Given the description of an element on the screen output the (x, y) to click on. 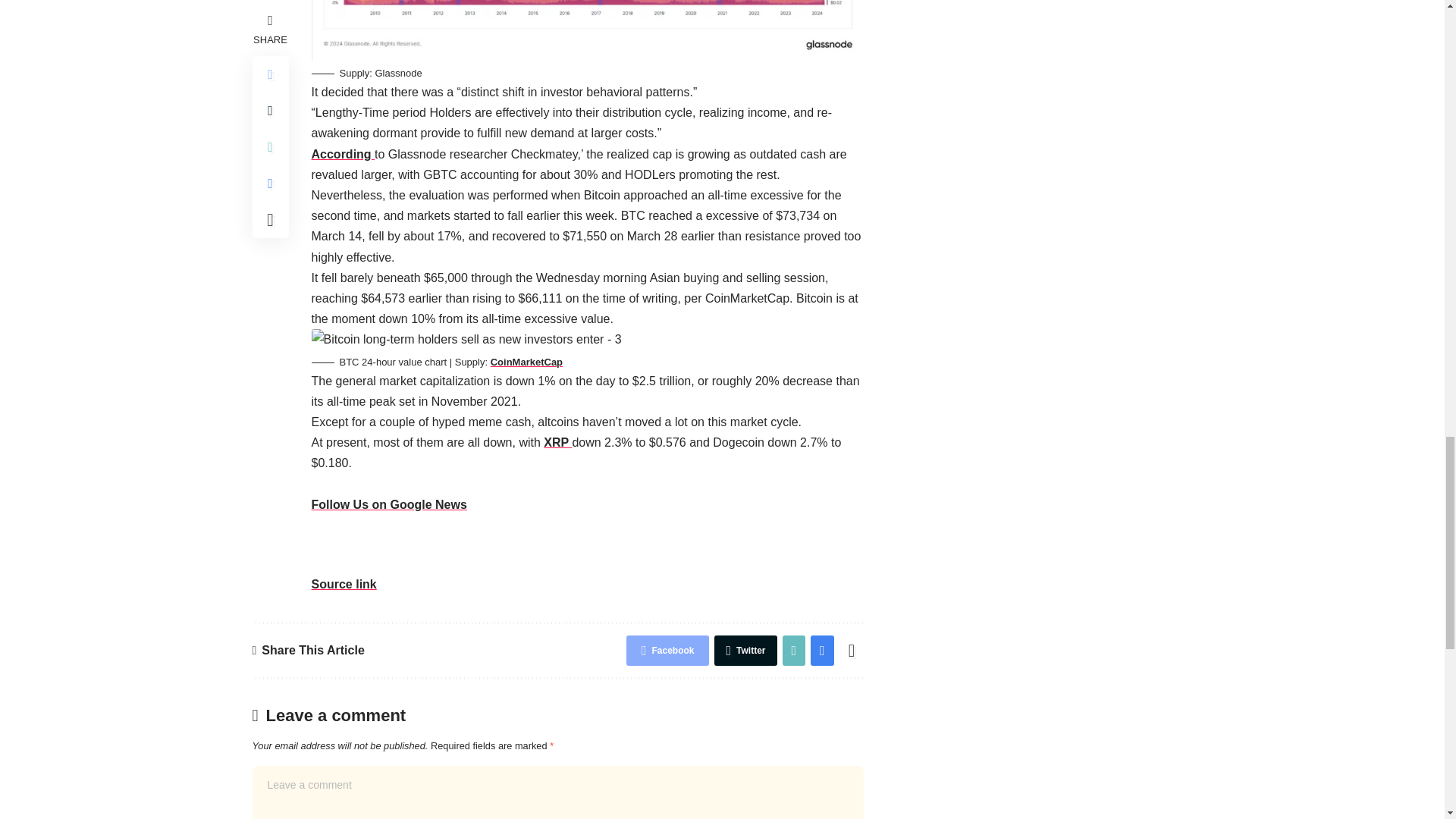
According (342, 154)
Facebook (668, 650)
CoinMarketCap (526, 361)
XRP (557, 441)
Twitter (745, 650)
Follow Us on Google News (388, 514)
Source link (343, 584)
